Given the description of an element on the screen output the (x, y) to click on. 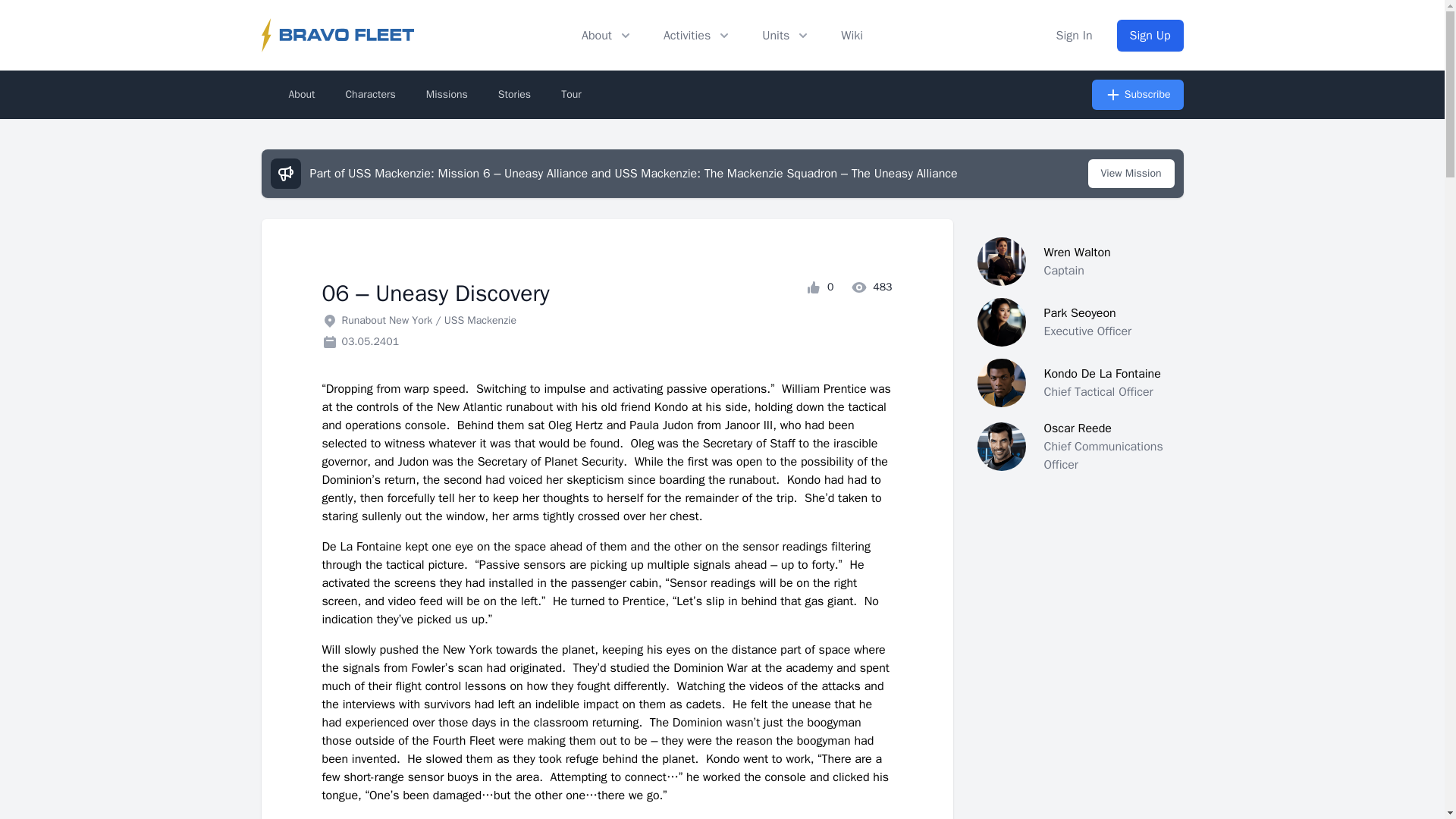
Sign In (1075, 34)
Wiki (852, 34)
Units (785, 34)
Activities (697, 34)
About (606, 34)
Sign Up (1149, 35)
